Given the description of an element on the screen output the (x, y) to click on. 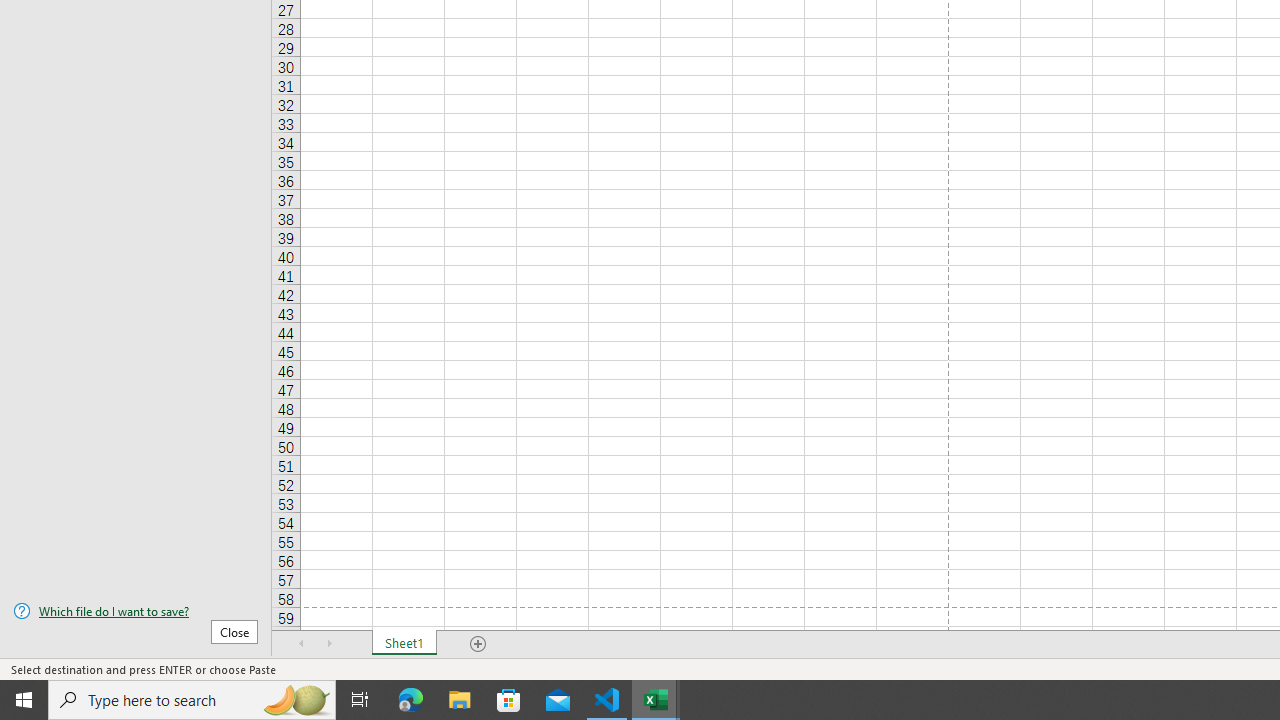
Visual Studio Code - 1 running window (607, 699)
